Given the description of an element on the screen output the (x, y) to click on. 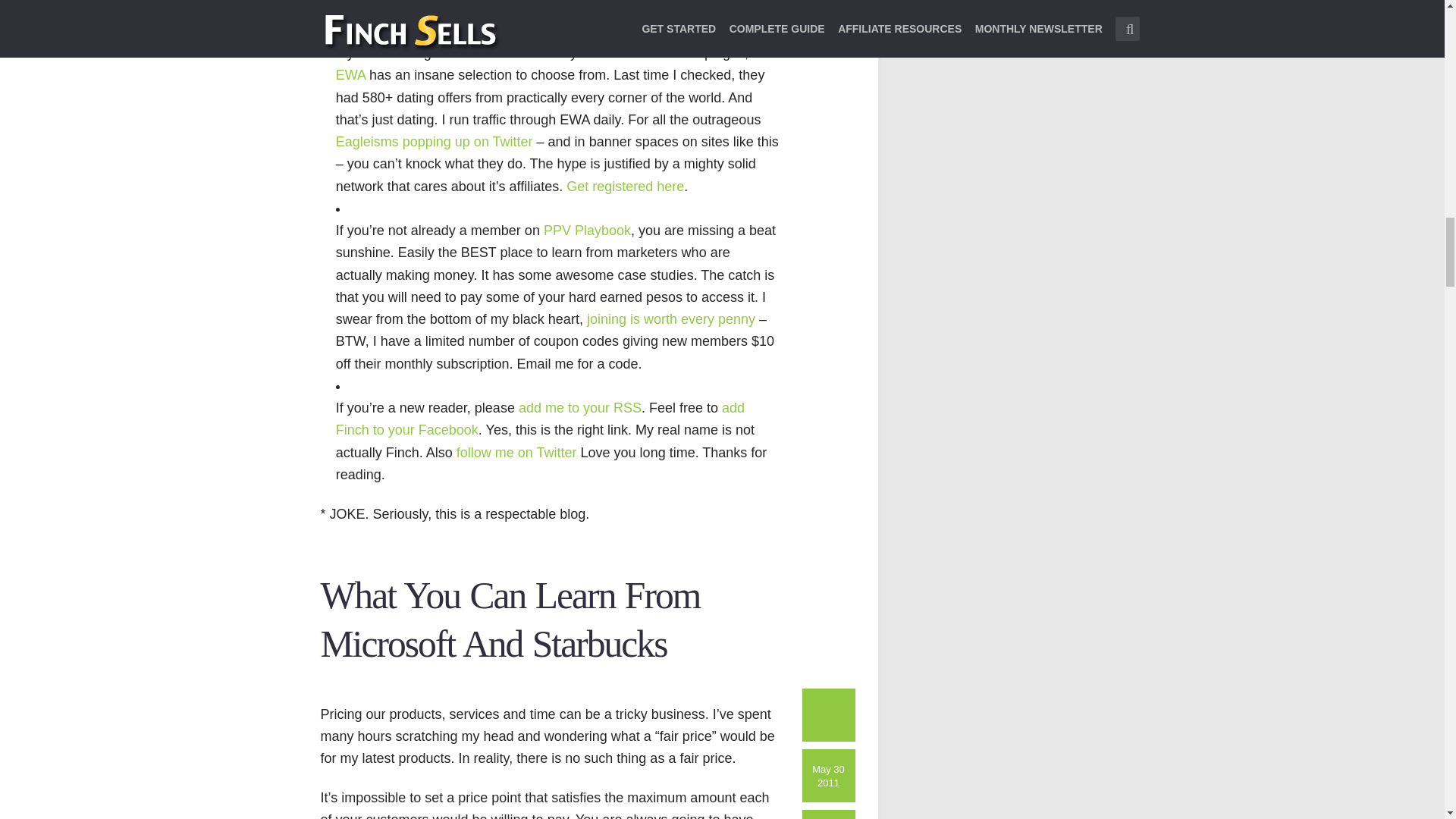
follow me on Twitter (516, 452)
Eagleisms popping up on Twitter (434, 141)
add Finch to your Facebook (540, 418)
What You Can Learn From Microsoft And Starbucks (510, 619)
joining is worth every penny (670, 319)
add me to your RSS (580, 407)
Get registered here (625, 186)
What You Can Learn From Microsoft And Starbucks (510, 619)
EWA (350, 74)
PPV Playbook (586, 230)
